Given the description of an element on the screen output the (x, y) to click on. 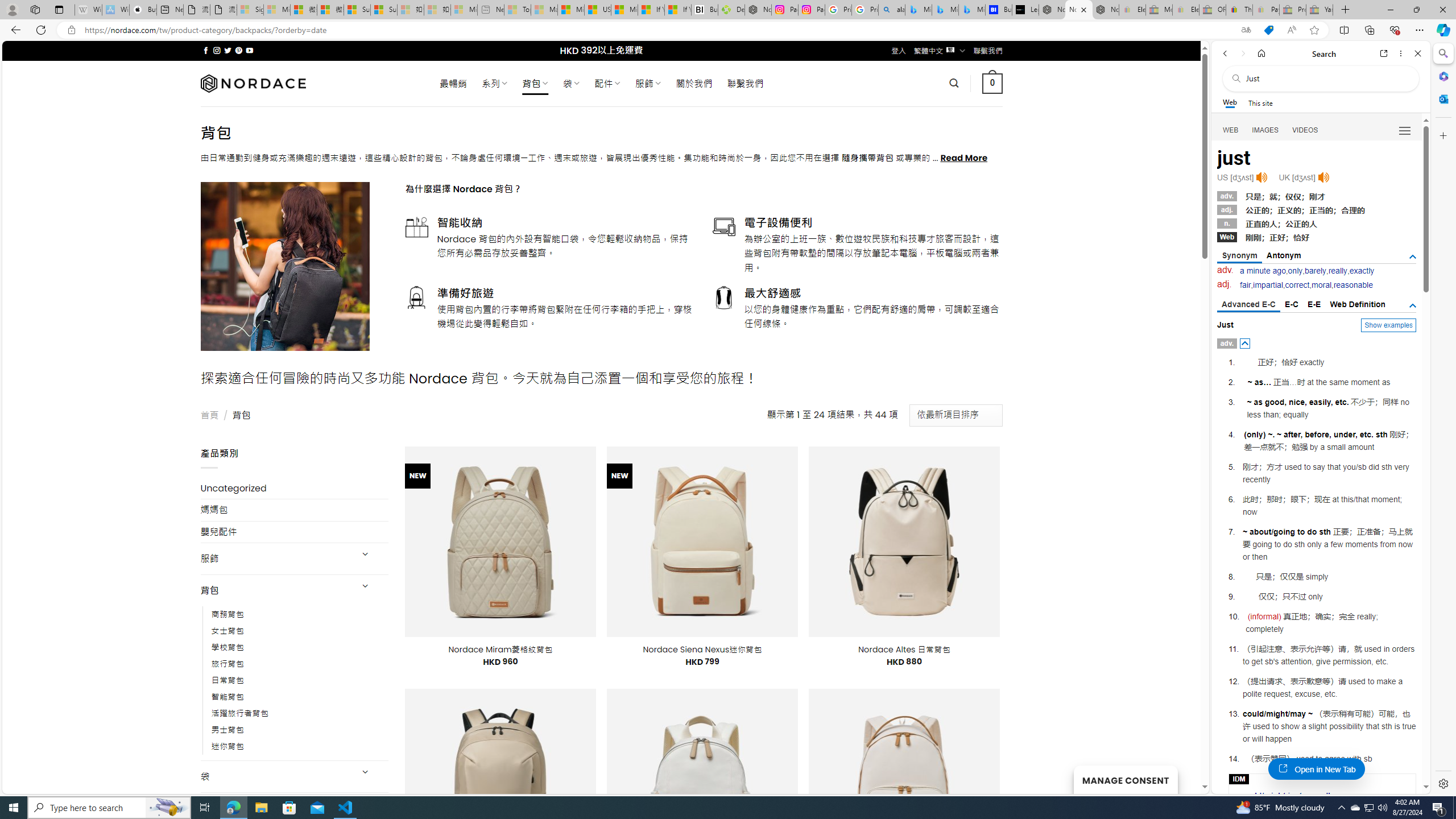
  0   (992, 83)
Antonym (1284, 254)
Microsoft Bing Travel - Shangri-La Hotel Bangkok (971, 9)
Payments Terms of Use | eBay.com - Sleeping (1265, 9)
Click to listen (1323, 177)
Yard, Garden & Outdoor Living - Sleeping (1319, 9)
Marine life - MSN - Sleeping (543, 9)
